Given the description of an element on the screen output the (x, y) to click on. 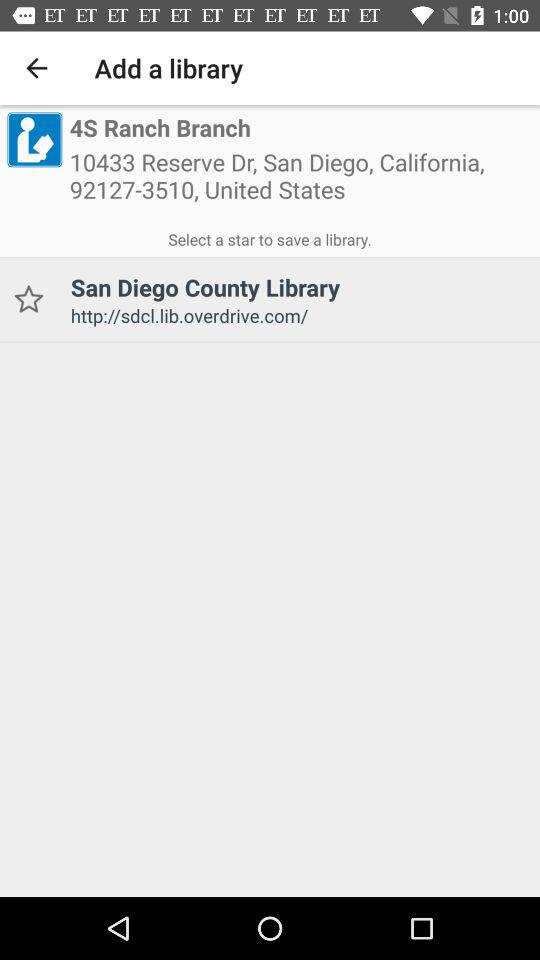
press http sdcl lib icon (298, 315)
